Given the description of an element on the screen output the (x, y) to click on. 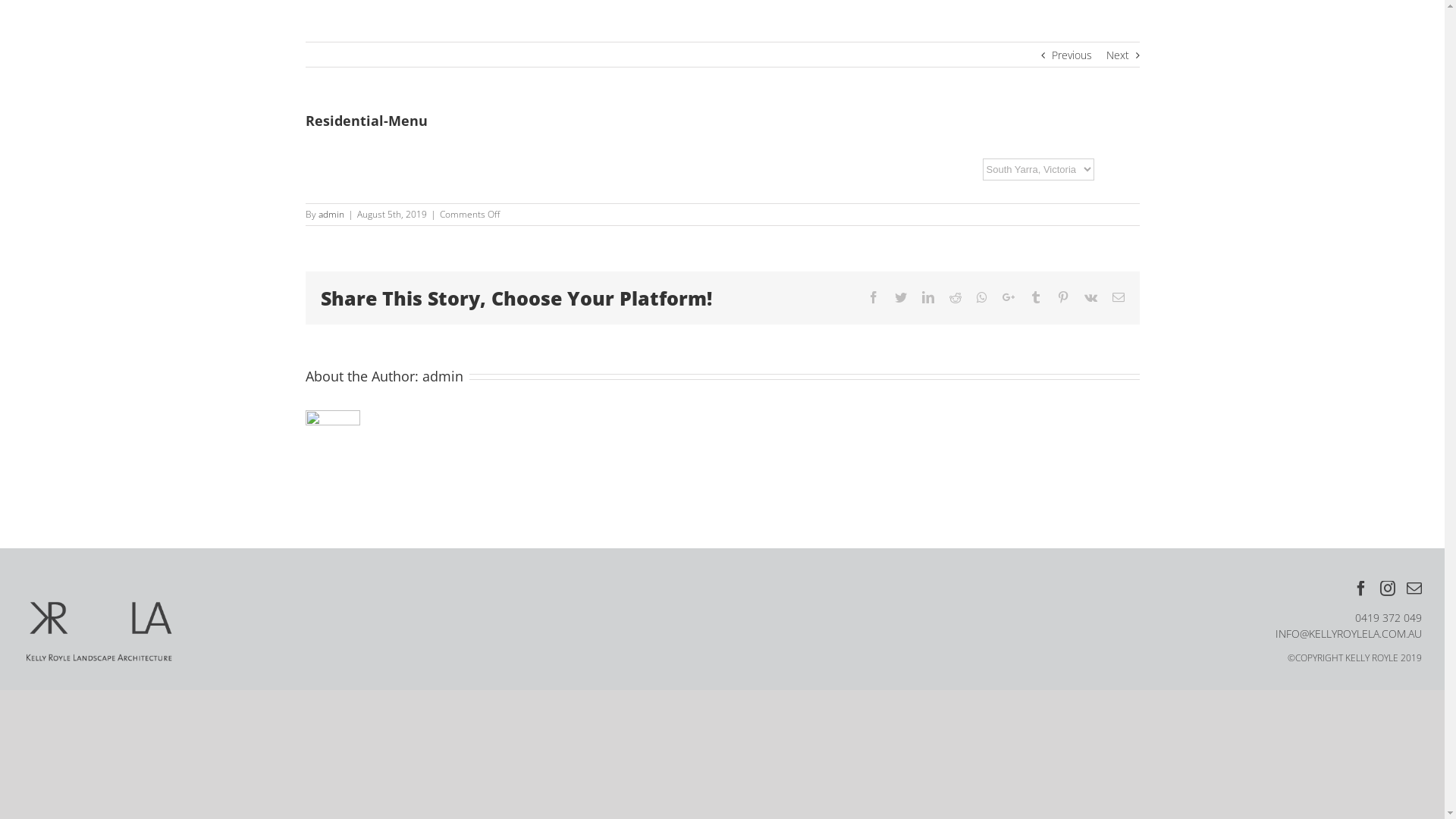
INFO@KELLYROYLELA.COM.AU Element type: text (1348, 633)
ABOUT US Element type: text (1376, 29)
0419 372 049 Element type: text (1388, 617)
Previous Element type: text (1071, 55)
Mail Element type: hover (1413, 588)
admin Element type: text (441, 376)
Next Element type: text (1116, 55)
WHAT WE DO Element type: text (1376, 52)
admin Element type: text (331, 213)
Facebook Element type: hover (1360, 588)
PROJECTS Element type: text (1376, 75)
GET IN TOUCH Element type: text (1376, 98)
Instagram Element type: hover (1387, 588)
